Given the description of an element on the screen output the (x, y) to click on. 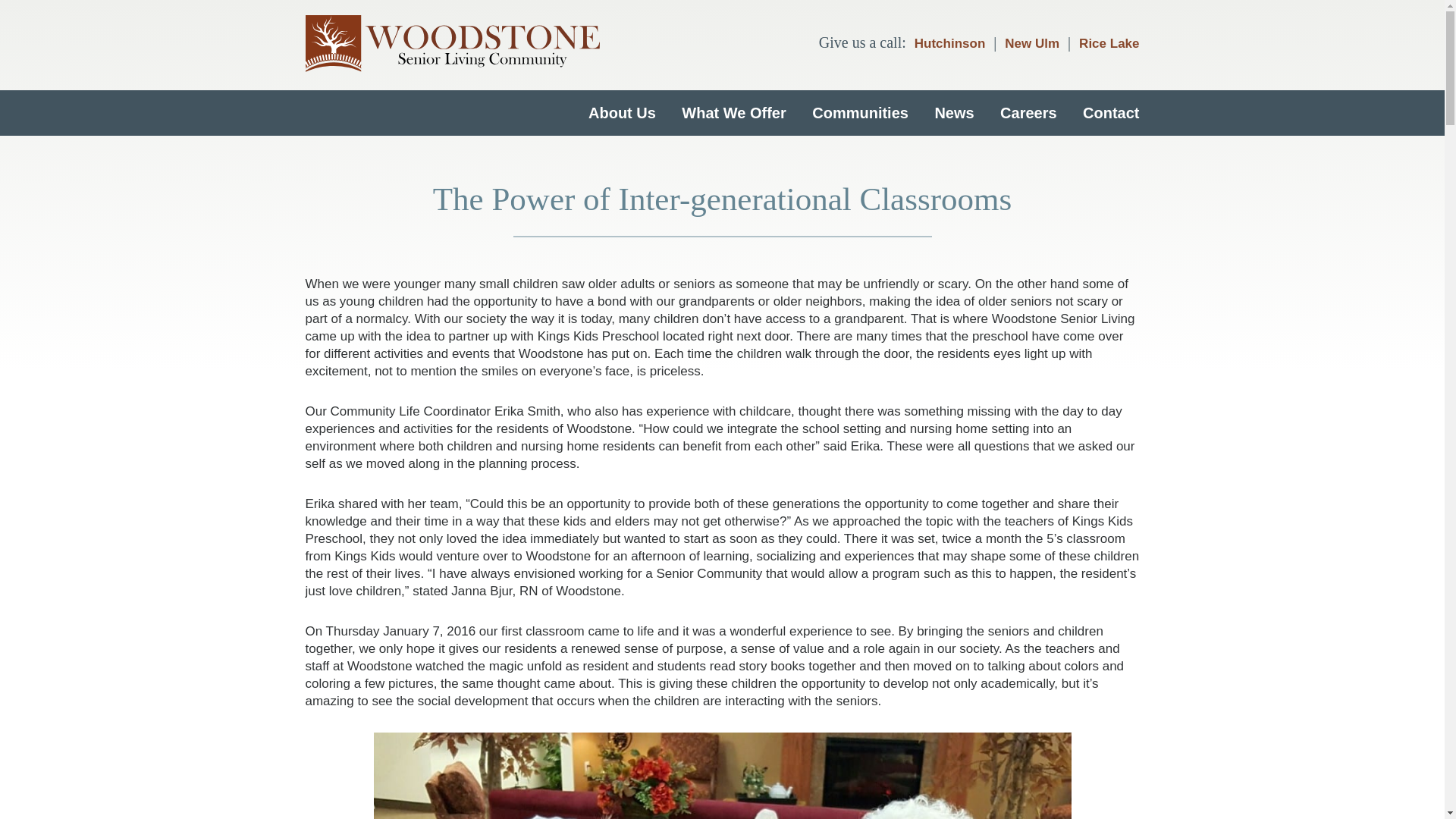
Contact (1104, 112)
Hutchinson (950, 43)
About Us (621, 112)
Rice Lake (1106, 43)
Careers (1028, 112)
Communities (860, 112)
Woodstone Senior Living Community (451, 45)
News (954, 112)
What We Offer (732, 112)
New Ulm (1032, 43)
